Given the description of an element on the screen output the (x, y) to click on. 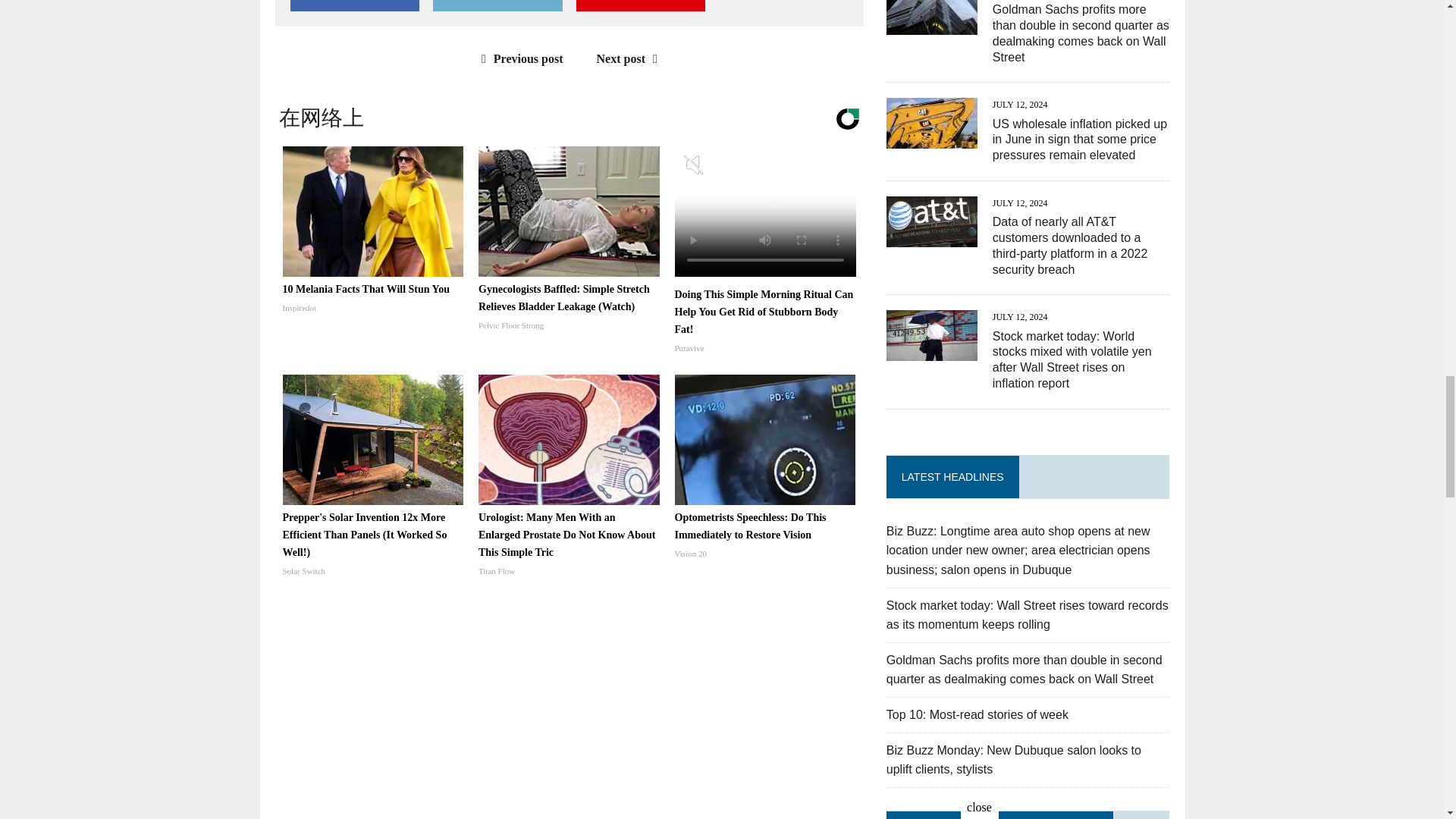
Tweet This Post (497, 5)
Pin This Post (640, 5)
Share on Facebook (354, 5)
